Given the description of an element on the screen output the (x, y) to click on. 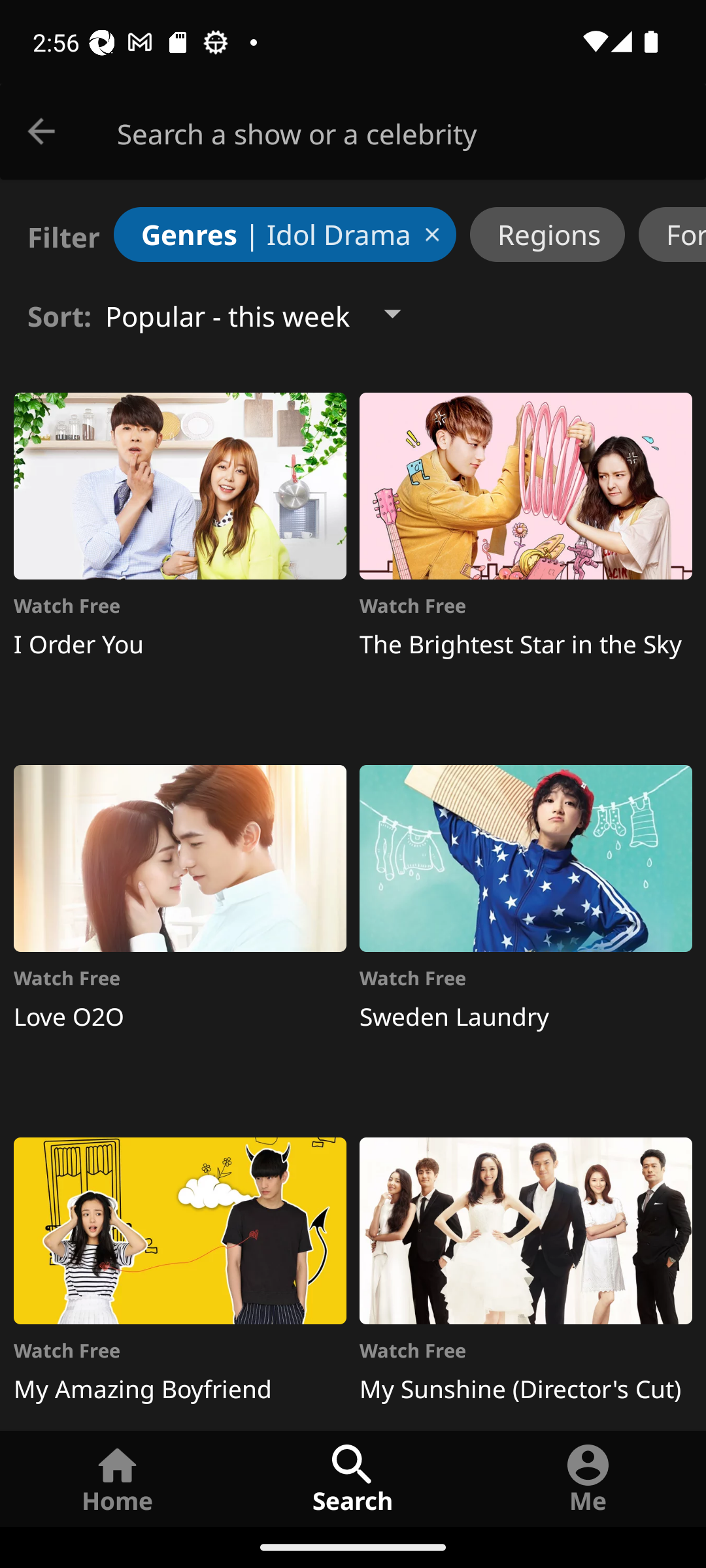
Search a show or a celebrity (411, 131)
Regions filter_button_countries (547, 233)
Popular - this week (269, 313)
Home (117, 1478)
Me (588, 1478)
